Given the description of an element on the screen output the (x, y) to click on. 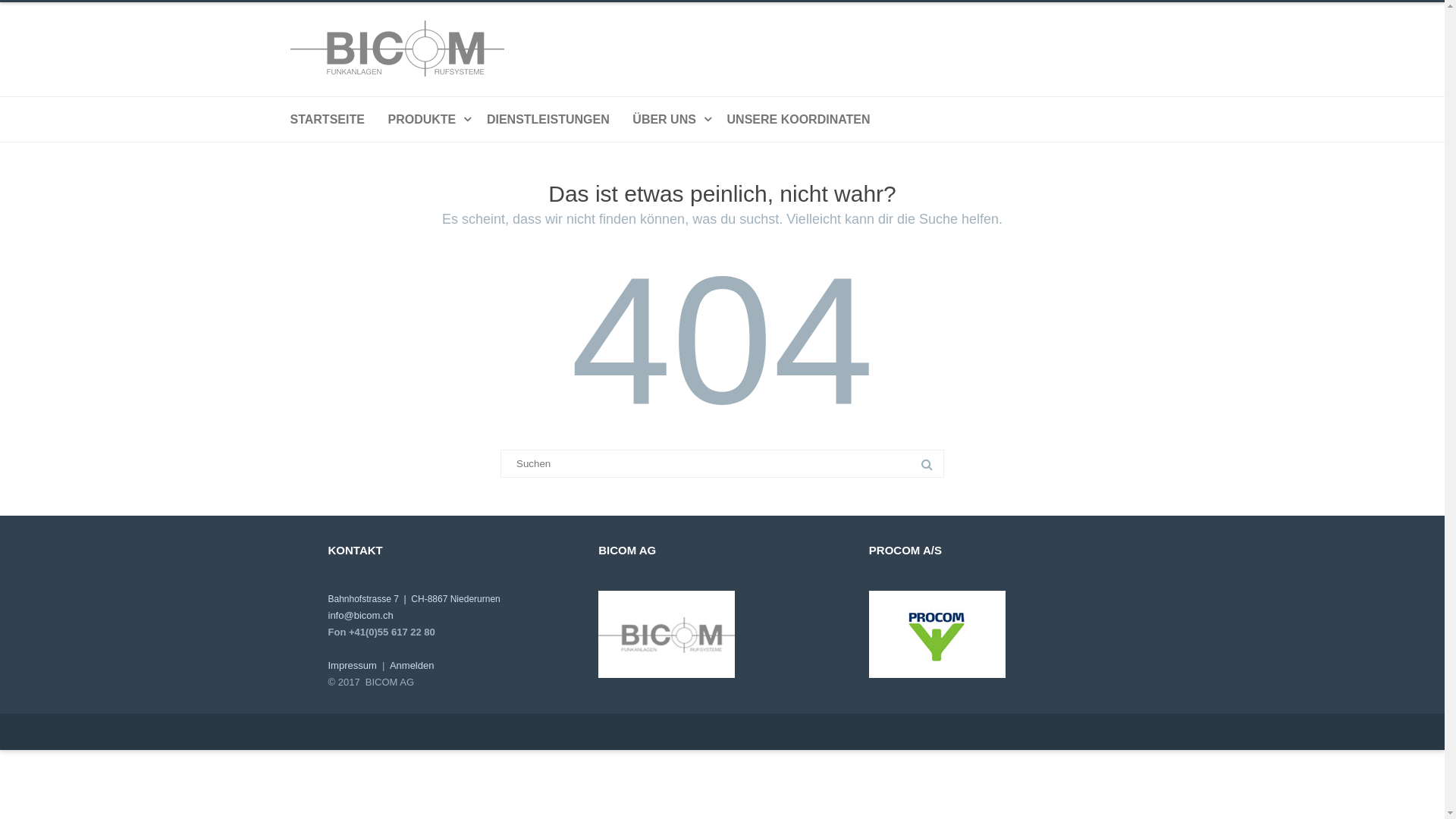
PRODUKTE Element type: text (426, 119)
info@bicom.ch Element type: text (359, 615)
Impressum Element type: text (351, 665)
BICOM AG Element type: hover (554, 72)
UNSERE KOORDINATEN Element type: text (798, 119)
DIENSTLEISTUNGEN Element type: text (547, 119)
Search for: Element type: hover (722, 463)
STARTSEITE Element type: text (326, 119)
Anmelden Element type: text (411, 665)
